Given the description of an element on the screen output the (x, y) to click on. 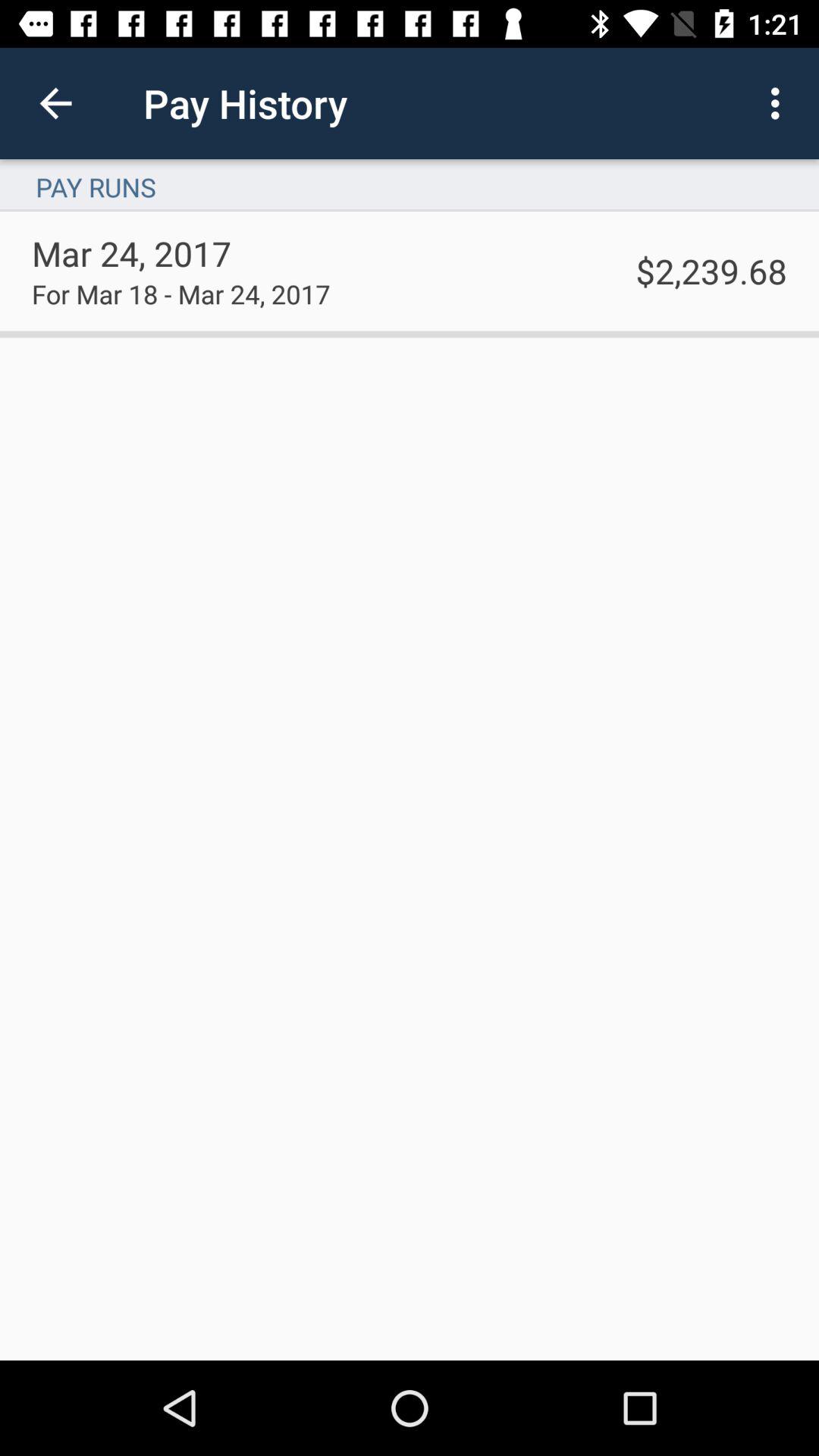
turn on the item above pay runs icon (55, 103)
